Given the description of an element on the screen output the (x, y) to click on. 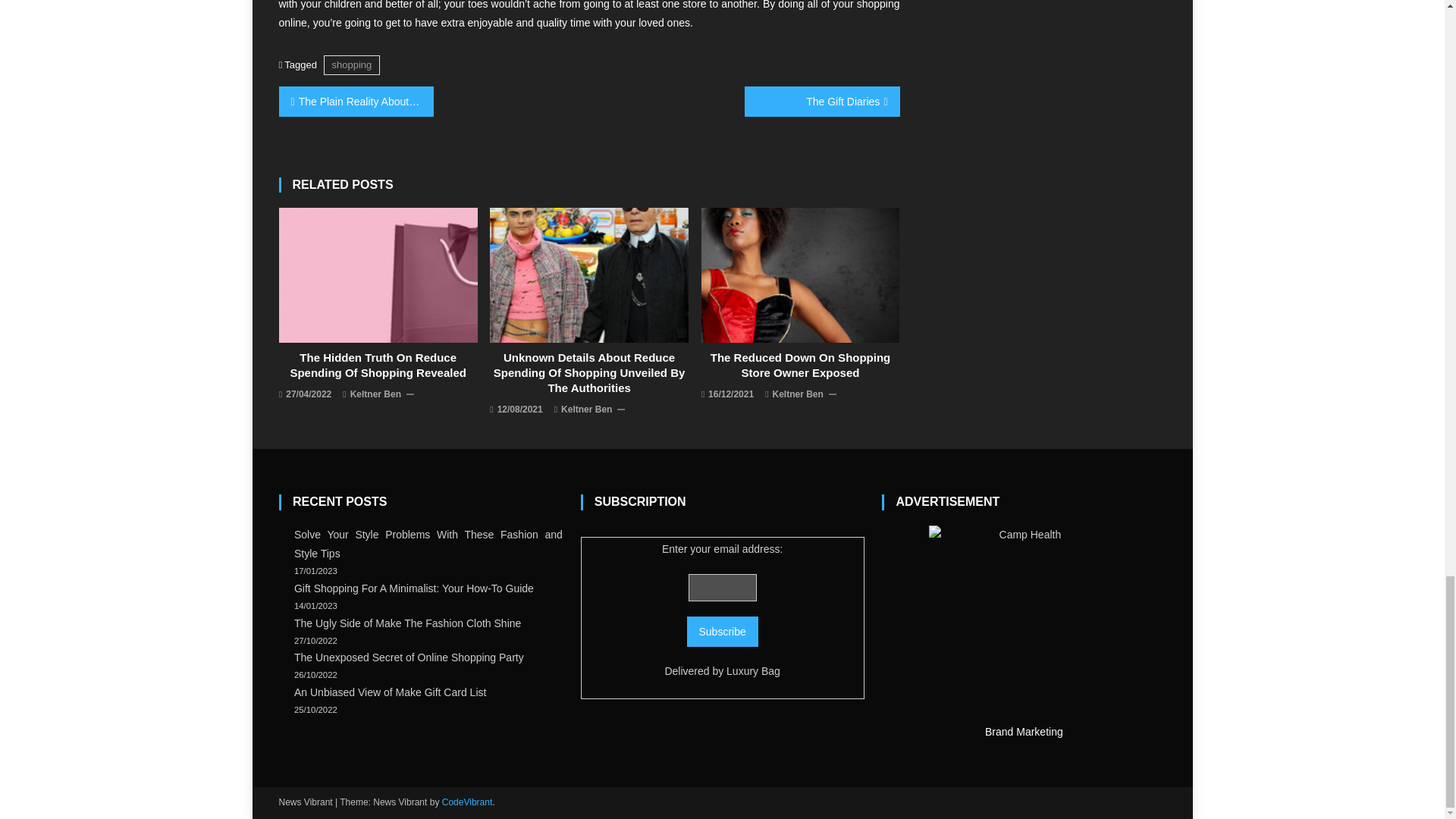
Camp Health  (1023, 619)
Keltner Ben (585, 410)
The Hidden Truth on Reduce Spending Of Shopping Revealed 3 (378, 275)
Keltner Ben (798, 394)
The Reduced Down On Shopping Store Owner Exposed (800, 365)
The Hidden Truth On Reduce Spending Of Shopping Revealed (378, 365)
The Gift Diaries (821, 101)
Subscribe (722, 631)
shopping (351, 64)
Keltner Ben (375, 394)
The Reduced Down on Shopping Store Owner Exposed 5 (800, 275)
